Given the description of an element on the screen output the (x, y) to click on. 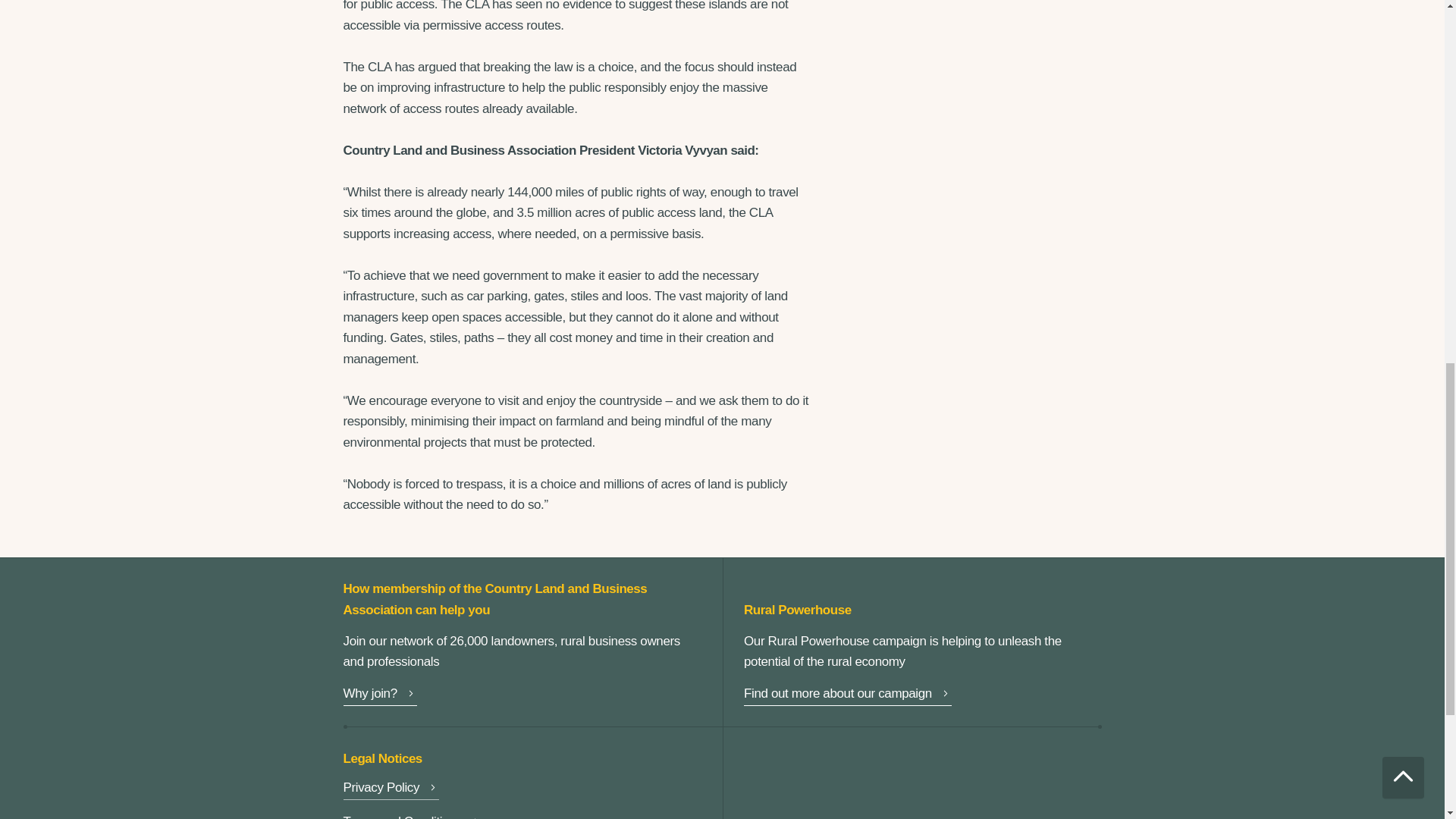
Privacy Policy (390, 789)
Why join? (379, 695)
Terms and Conditions (411, 816)
Find out more about our campaign (848, 695)
